Given the description of an element on the screen output the (x, y) to click on. 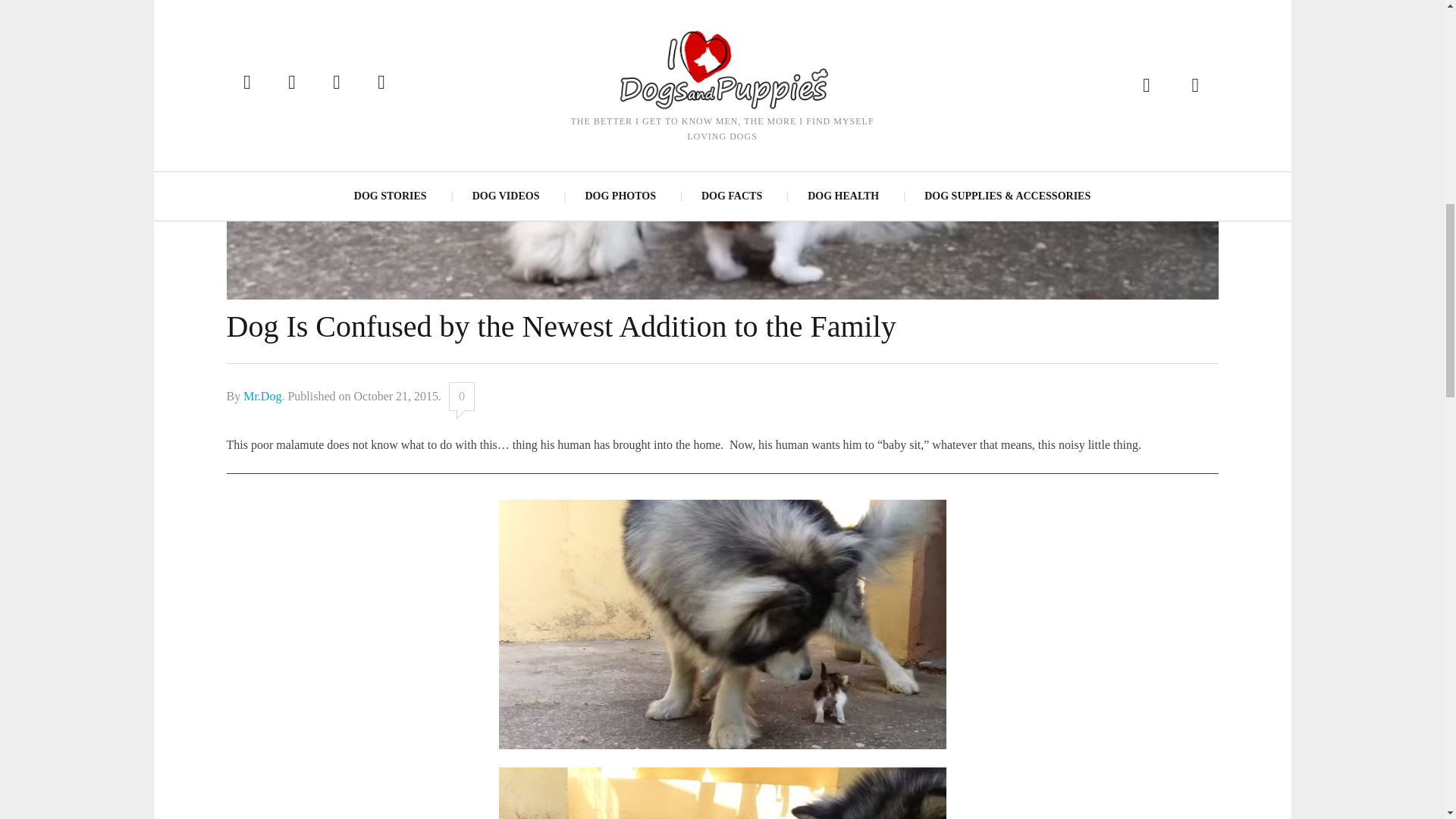
0 (461, 396)
Mr.Dog (262, 395)
Posts by Mr.Dog (262, 395)
